Given the description of an element on the screen output the (x, y) to click on. 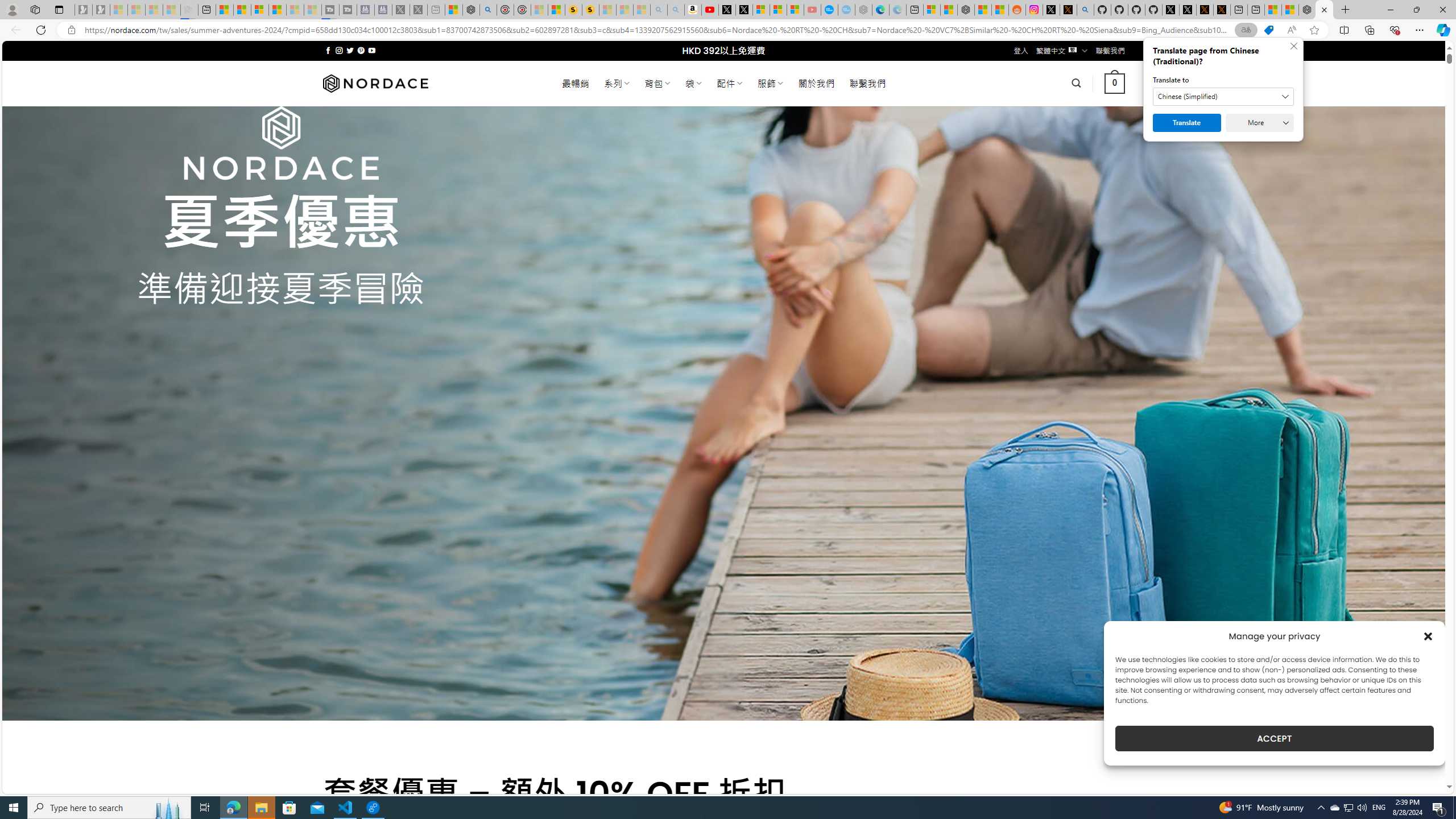
github - Search (1085, 9)
